Given the description of an element on the screen output the (x, y) to click on. 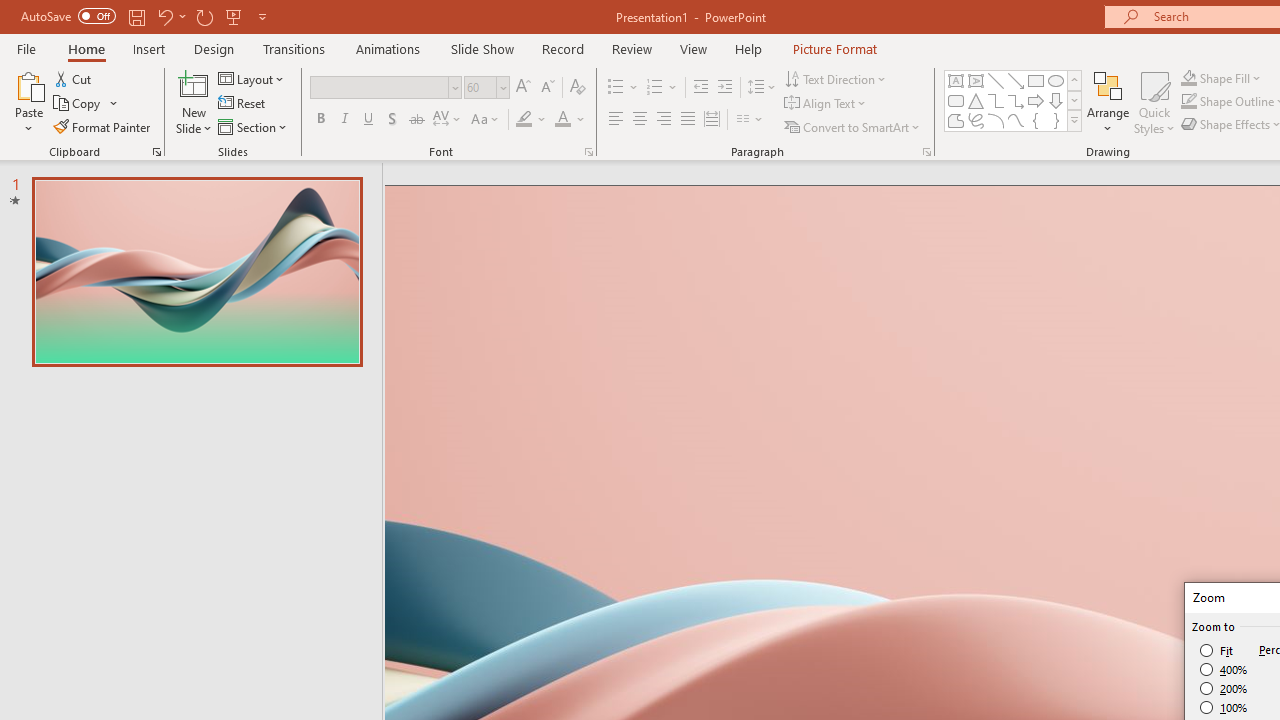
200% (1224, 688)
Shadow (392, 119)
Freeform: Scribble (975, 120)
Convert to SmartArt (853, 126)
Reset (243, 103)
Font Color Red (562, 119)
Text Box (955, 80)
Connector: Elbow Arrow (1016, 100)
